Given the description of an element on the screen output the (x, y) to click on. 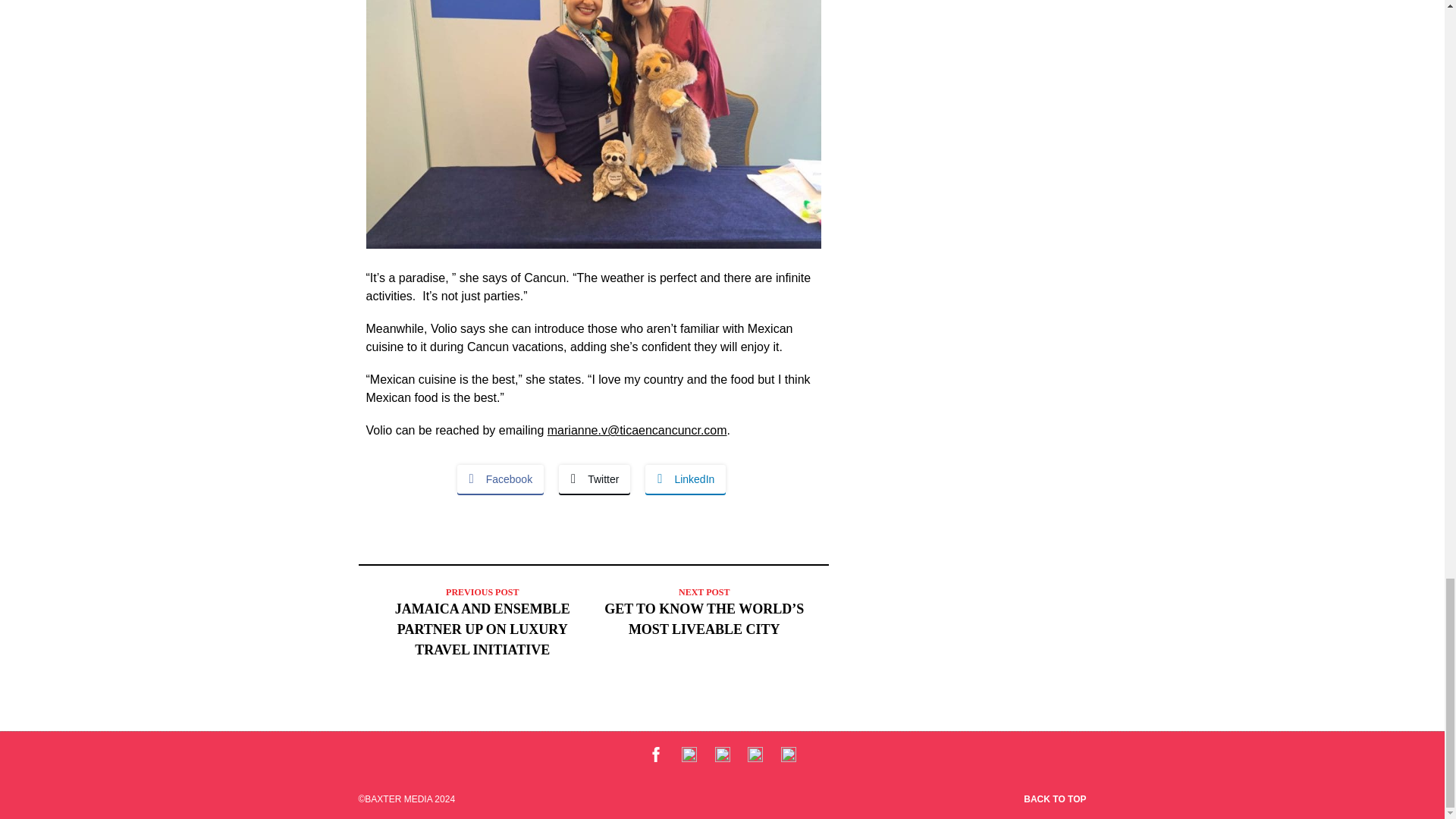
Linkedin (755, 758)
JAMAICA AND ENSEMBLE PARTNER UP ON LUXURY TRAVEL INITIATIVE (482, 629)
Facebook (500, 479)
Twitter (594, 479)
Instagram (788, 758)
Youtube (721, 758)
LinkedIn (685, 479)
